Given the description of an element on the screen output the (x, y) to click on. 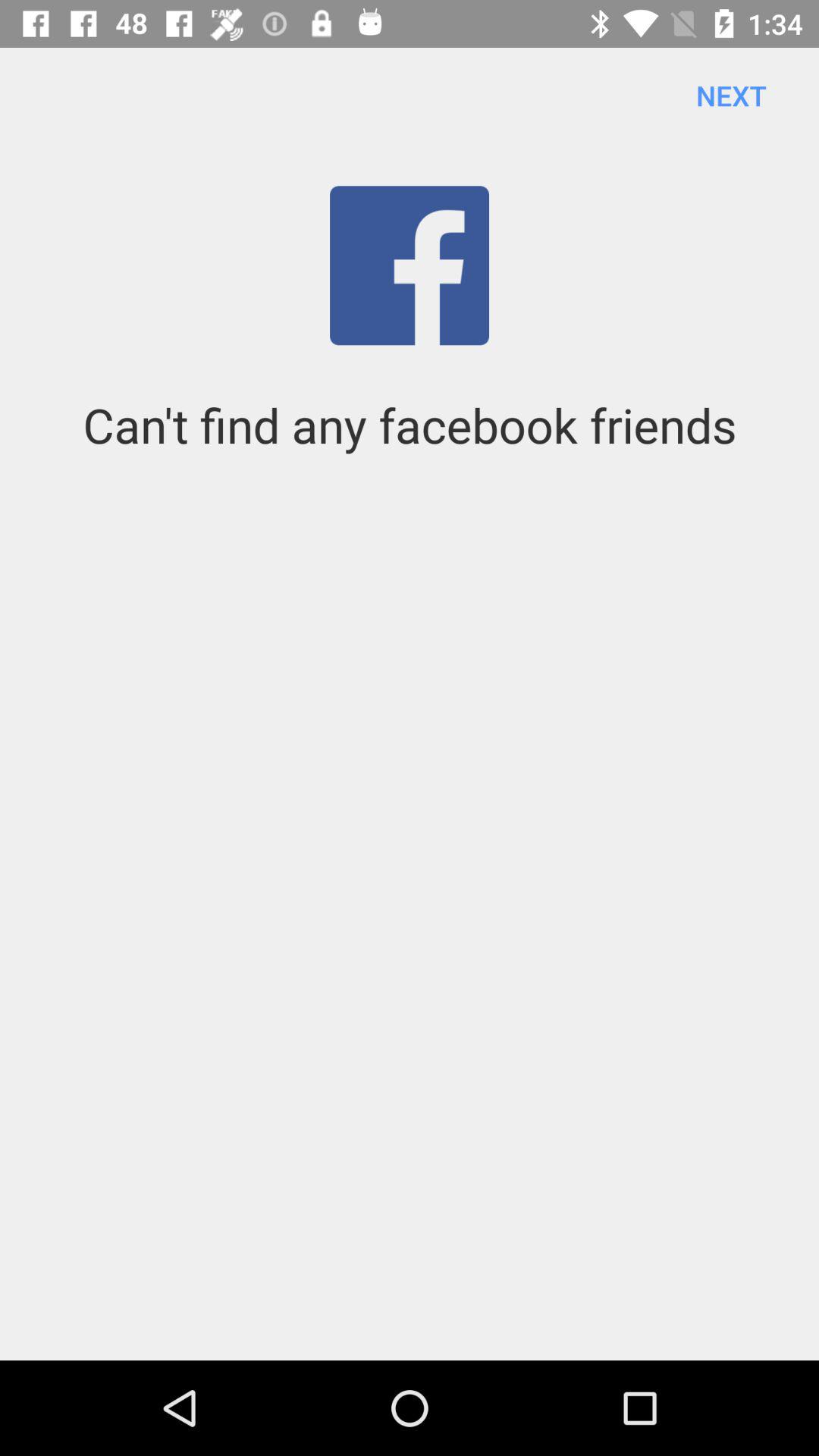
jump to next icon (731, 95)
